Given the description of an element on the screen output the (x, y) to click on. 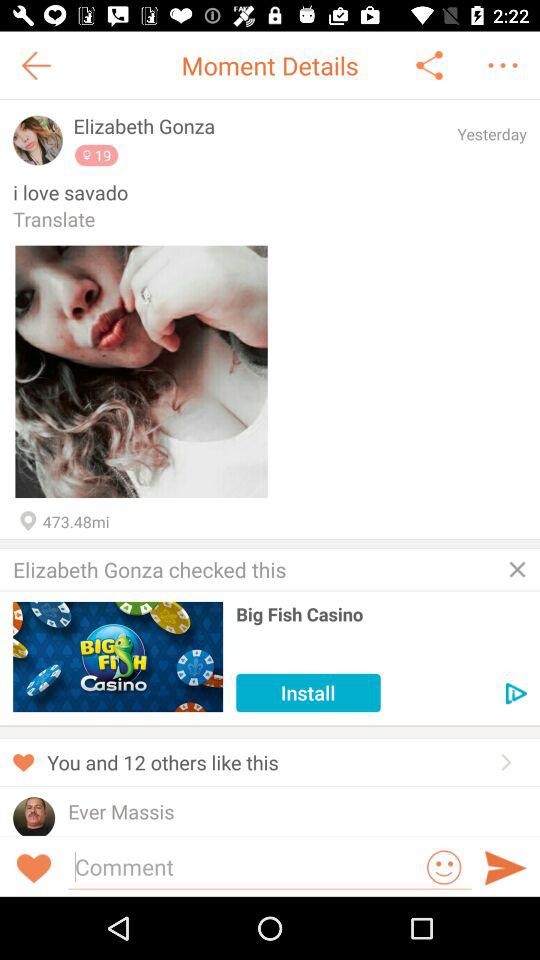
uploaded image (141, 371)
